Given the description of an element on the screen output the (x, y) to click on. 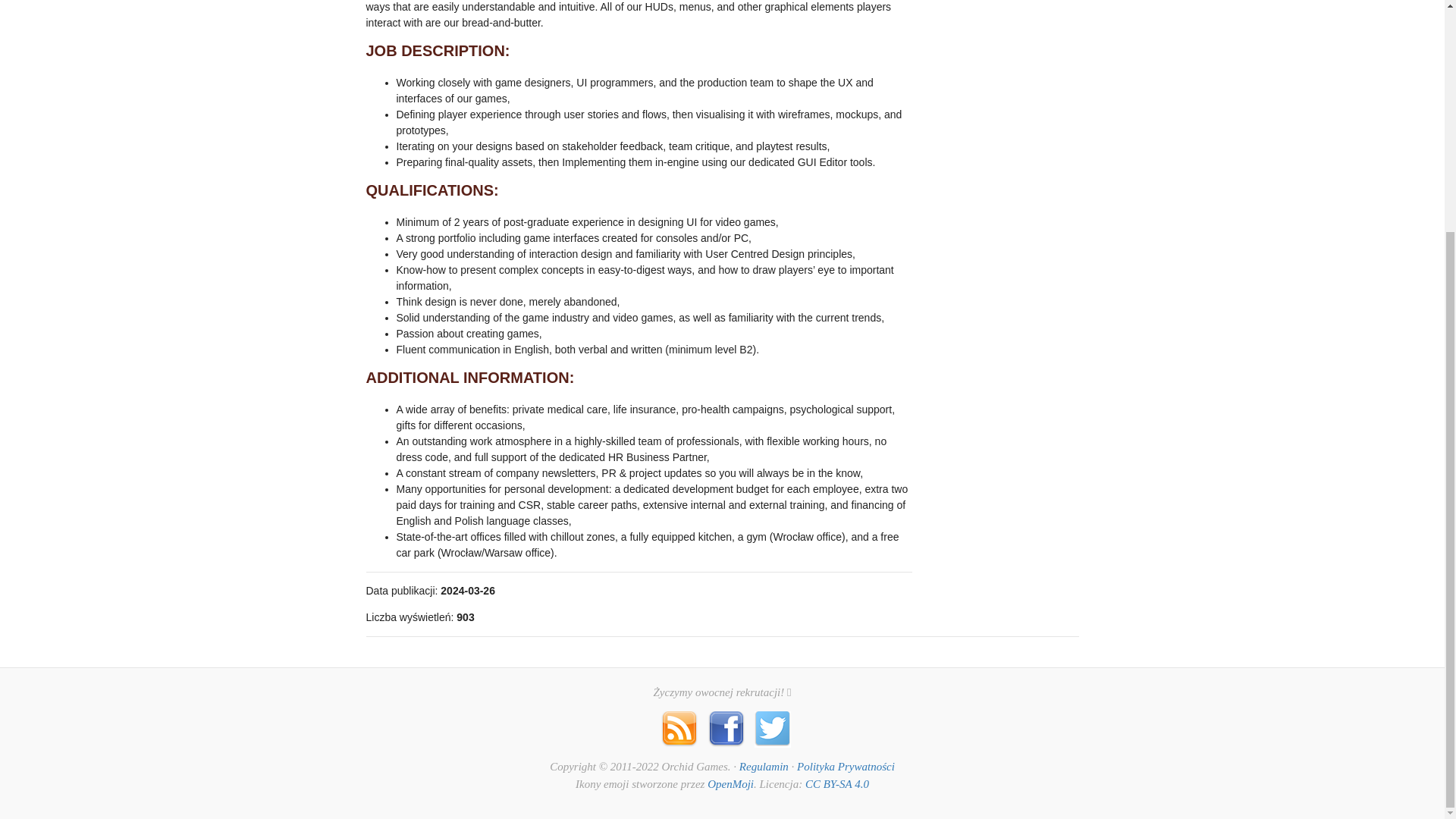
OpenMoji (730, 784)
CC BY-SA 4.0 (837, 784)
Regulamin (764, 766)
